Given the description of an element on the screen output the (x, y) to click on. 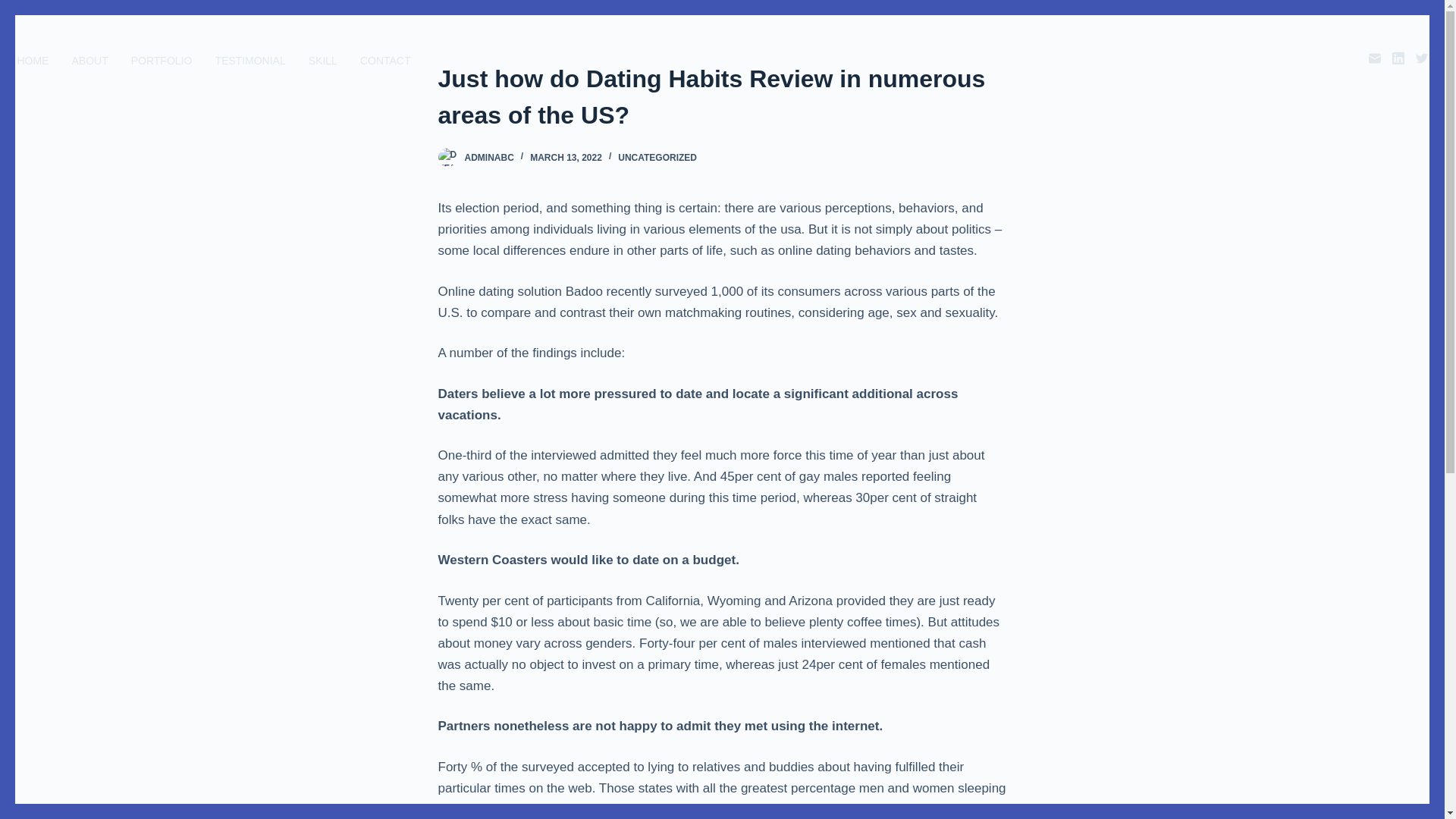
UNCATEGORIZED (657, 157)
PORTFOLIO (161, 60)
Posts by adminabc (488, 157)
TESTIMONIAL (250, 60)
Skip to content (15, 7)
ADMINABC (488, 157)
